Given the description of an element on the screen output the (x, y) to click on. 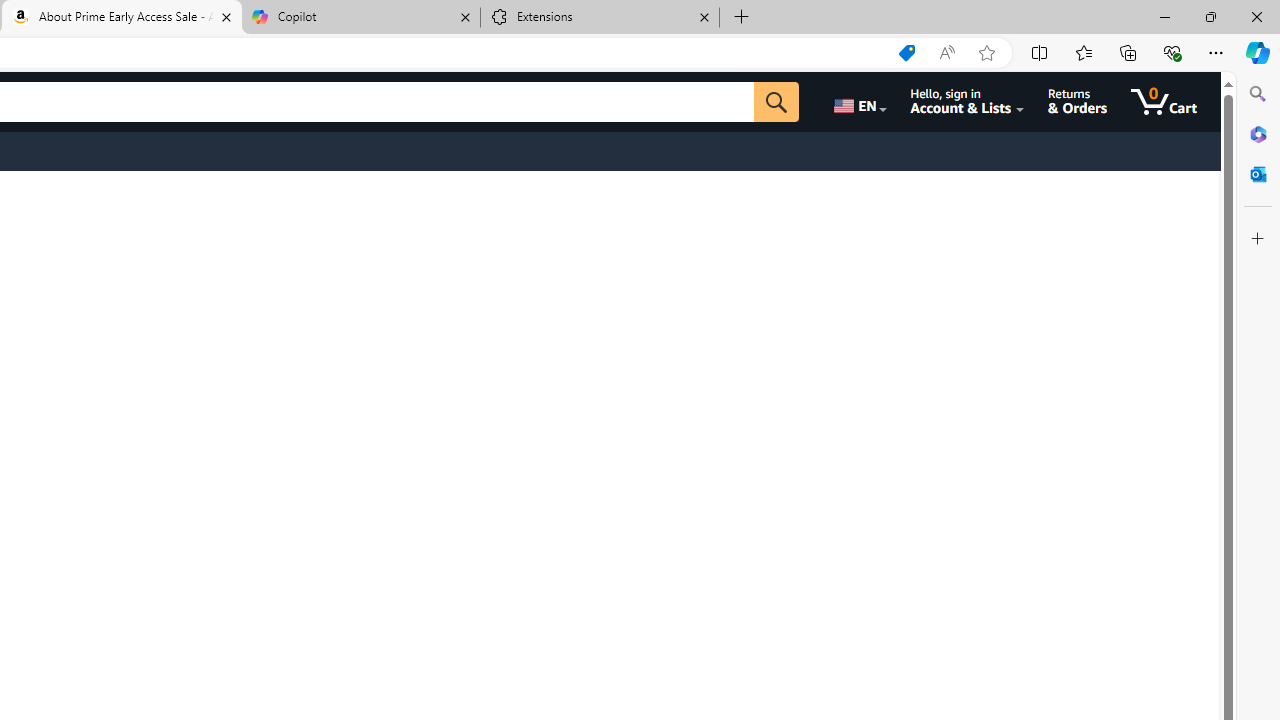
Extensions (600, 17)
Returns & Orders (1077, 101)
0 items in cart (1163, 101)
Choose a language for shopping. (858, 101)
Hello, sign in Account & Lists (967, 101)
Shopping in Microsoft Edge (906, 53)
Copilot (360, 17)
